Given the description of an element on the screen output the (x, y) to click on. 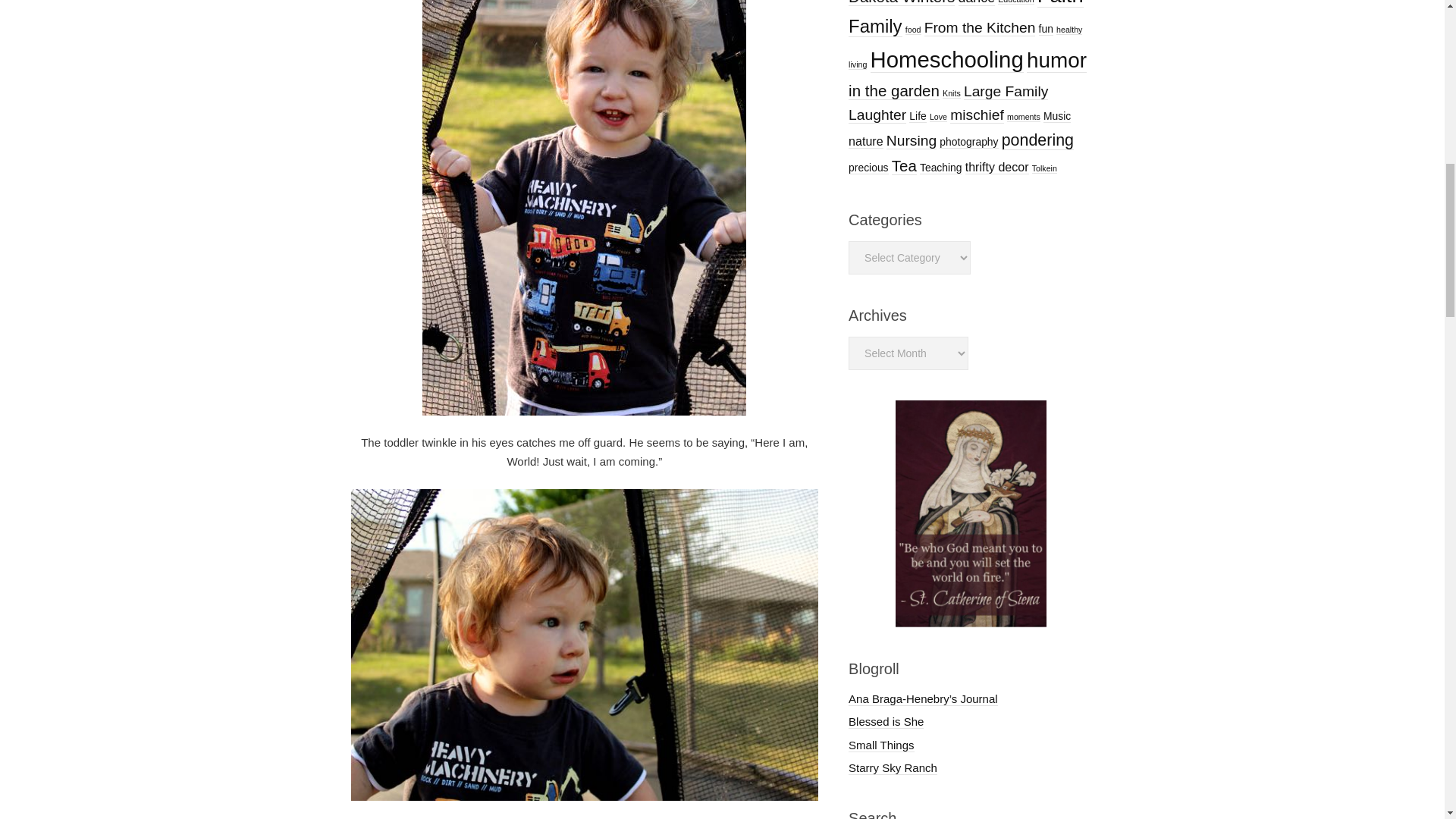
Family (874, 25)
food (913, 30)
Large Family (1005, 91)
From the Kitchen (979, 27)
in the garden (893, 90)
humor (1056, 60)
healthy living (964, 47)
Homeschooling (946, 59)
fun (1045, 29)
Education (1015, 2)
